Given the description of an element on the screen output the (x, y) to click on. 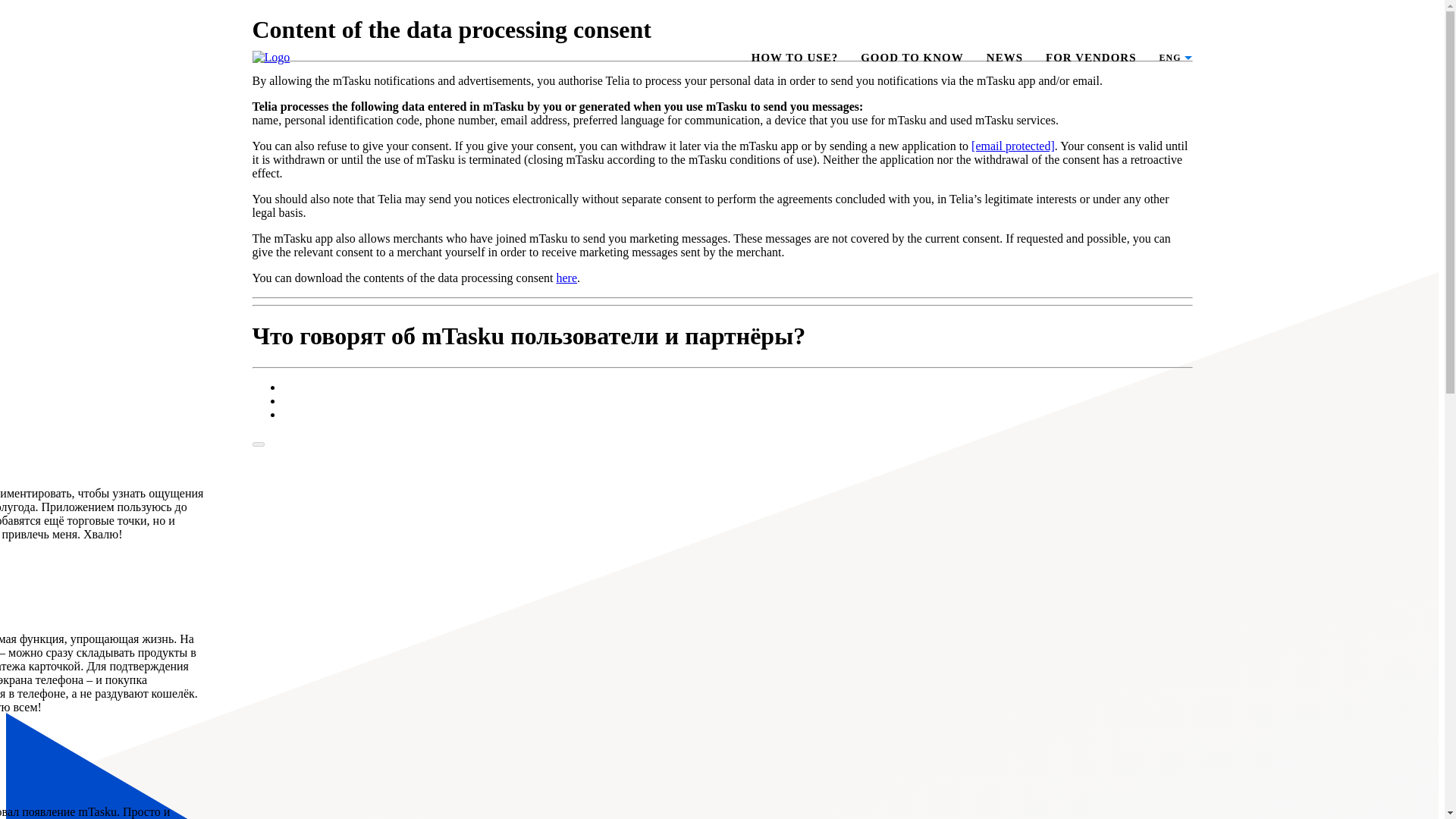
GOOD TO KNOW (911, 57)
FOR VENDORS (1091, 57)
HOW TO USE? (794, 57)
NEWS (1005, 57)
here (566, 277)
ENG (1169, 57)
